Given the description of an element on the screen output the (x, y) to click on. 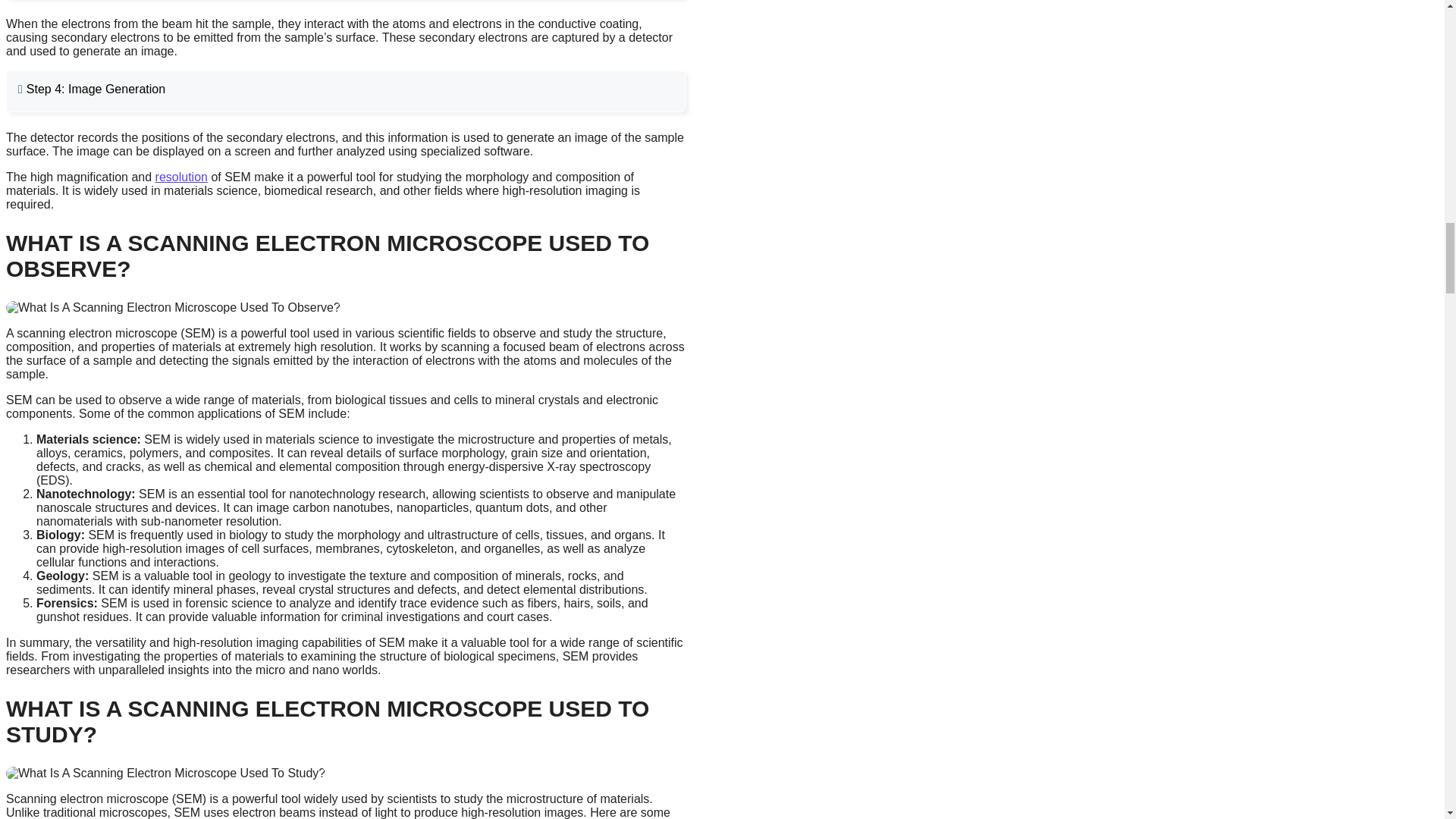
resolution (181, 176)
